Given the description of an element on the screen output the (x, y) to click on. 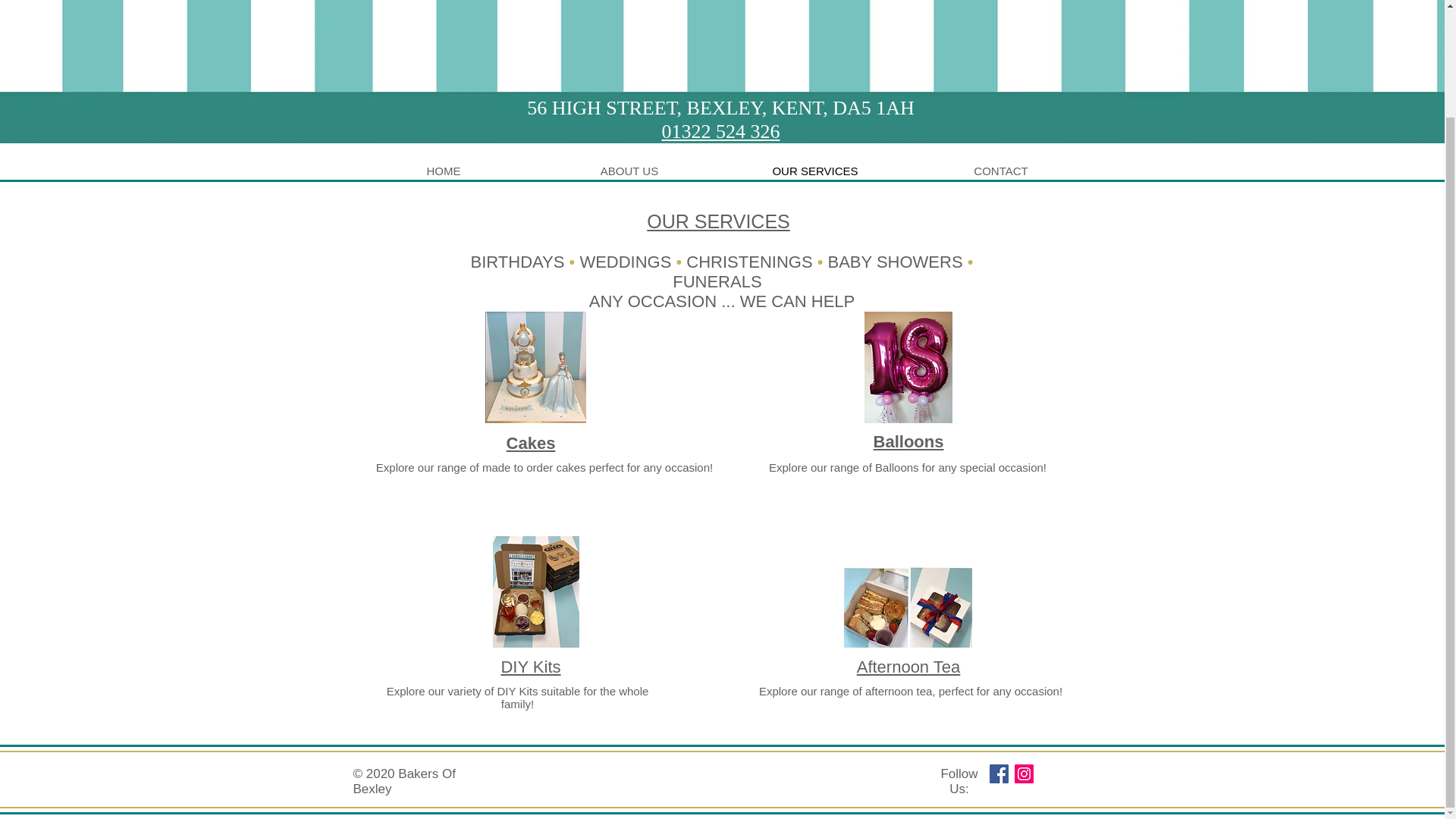
CONTACT (1001, 170)
Cakes (531, 443)
DIY Kits (530, 666)
Balloons (908, 441)
01322 524 326 (719, 130)
HOME (442, 170)
Afternoon Tea (908, 666)
OUR SERVICES (814, 170)
ABOUT US (629, 170)
